Given the description of an element on the screen output the (x, y) to click on. 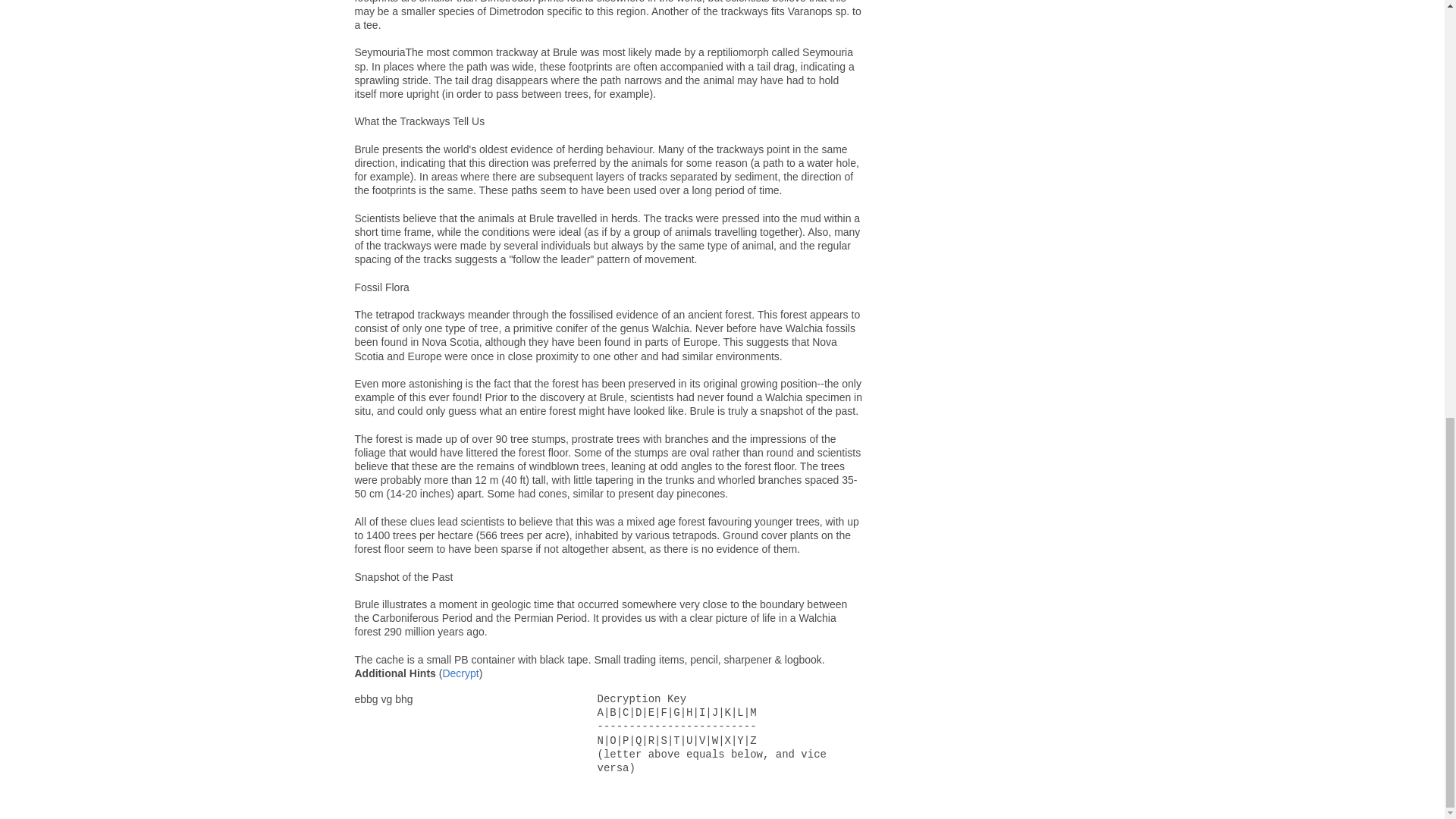
Decrypt (460, 673)
